Given the description of an element on the screen output the (x, y) to click on. 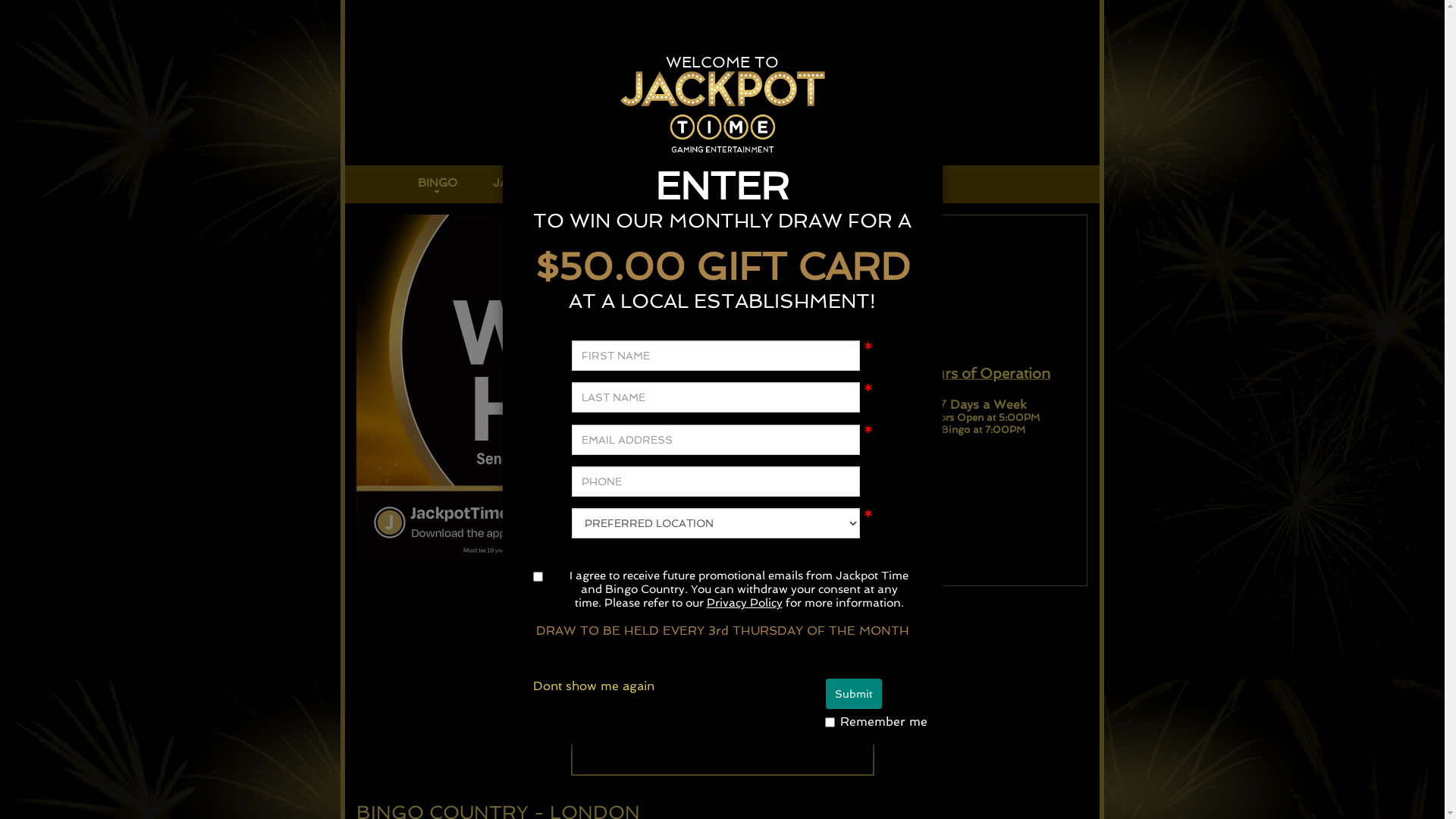
JACKPOT CITY POINTS Element type: text (559, 183)
BINGO Element type: text (437, 183)
CONTACT US Element type: text (677, 181)
Jackpot Time Element type: hover (358, 185)
Dont show me again Element type: text (592, 685)
Privacy Policy Element type: text (744, 602)
